Given the description of an element on the screen output the (x, y) to click on. 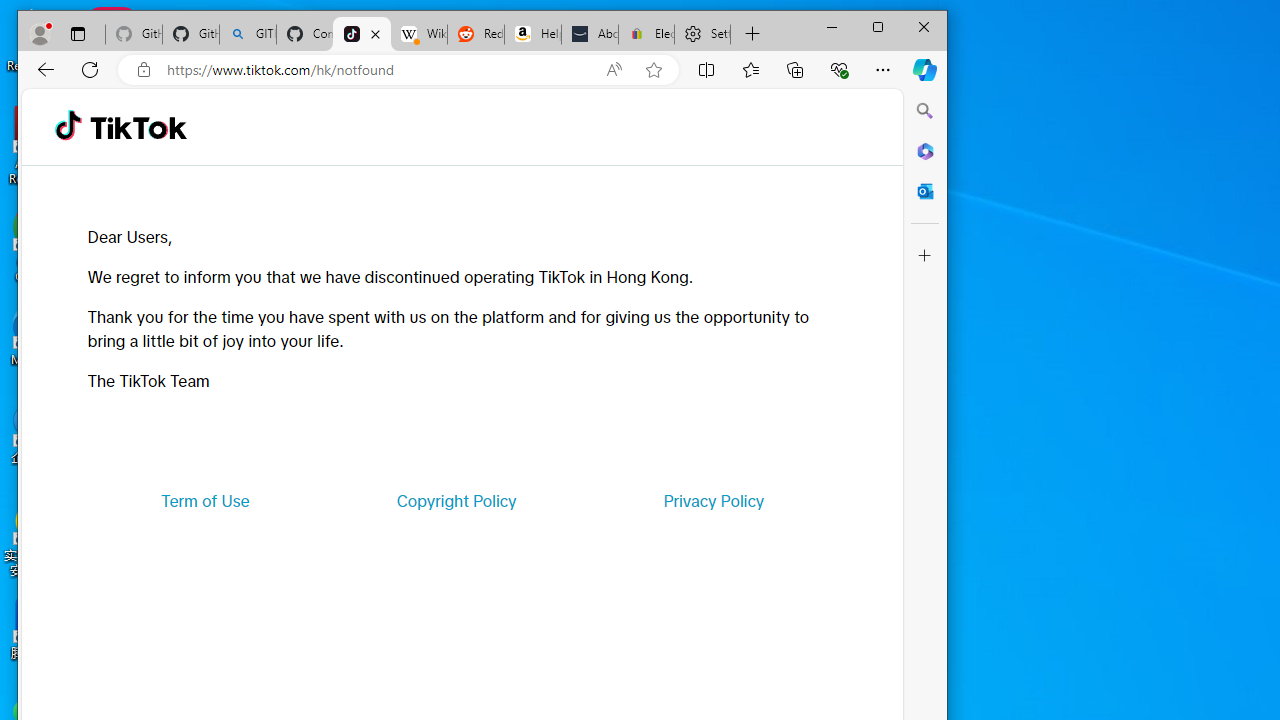
TikTok (138, 126)
TikTok (362, 34)
Wikipedia, the free encyclopedia (418, 34)
